Given the description of an element on the screen output the (x, y) to click on. 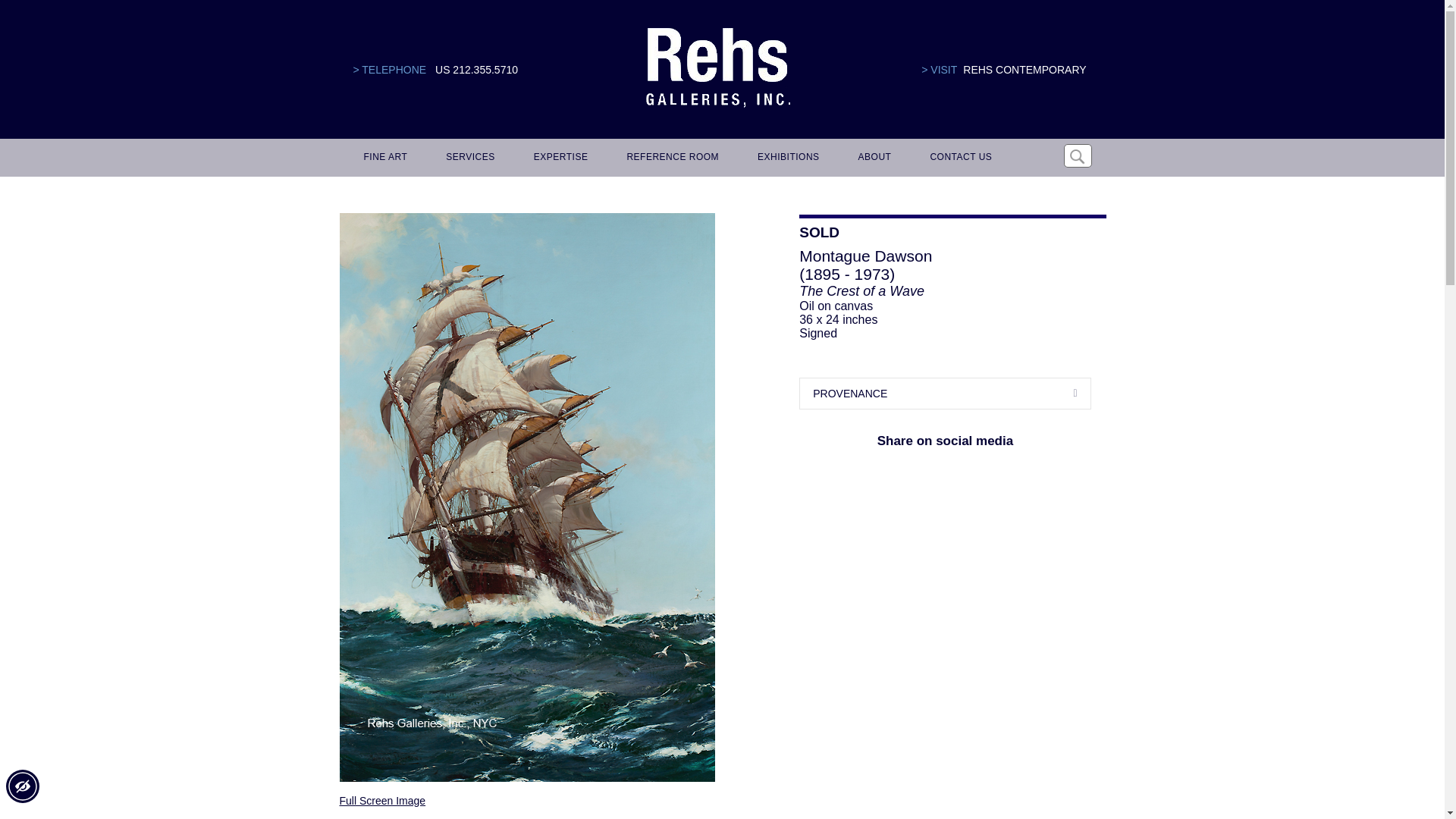
CONTACT US (957, 157)
SERVICES (467, 157)
FINE ART (383, 157)
ABOUT (872, 157)
EXHIBITIONS (785, 157)
Logo (717, 67)
Accessibility Menu (22, 786)
REHS CONTEMPORARY (1024, 69)
EXPERTISE (558, 157)
REFERENCE ROOM (670, 157)
Full Screen Image (382, 800)
